Given the description of an element on the screen output the (x, y) to click on. 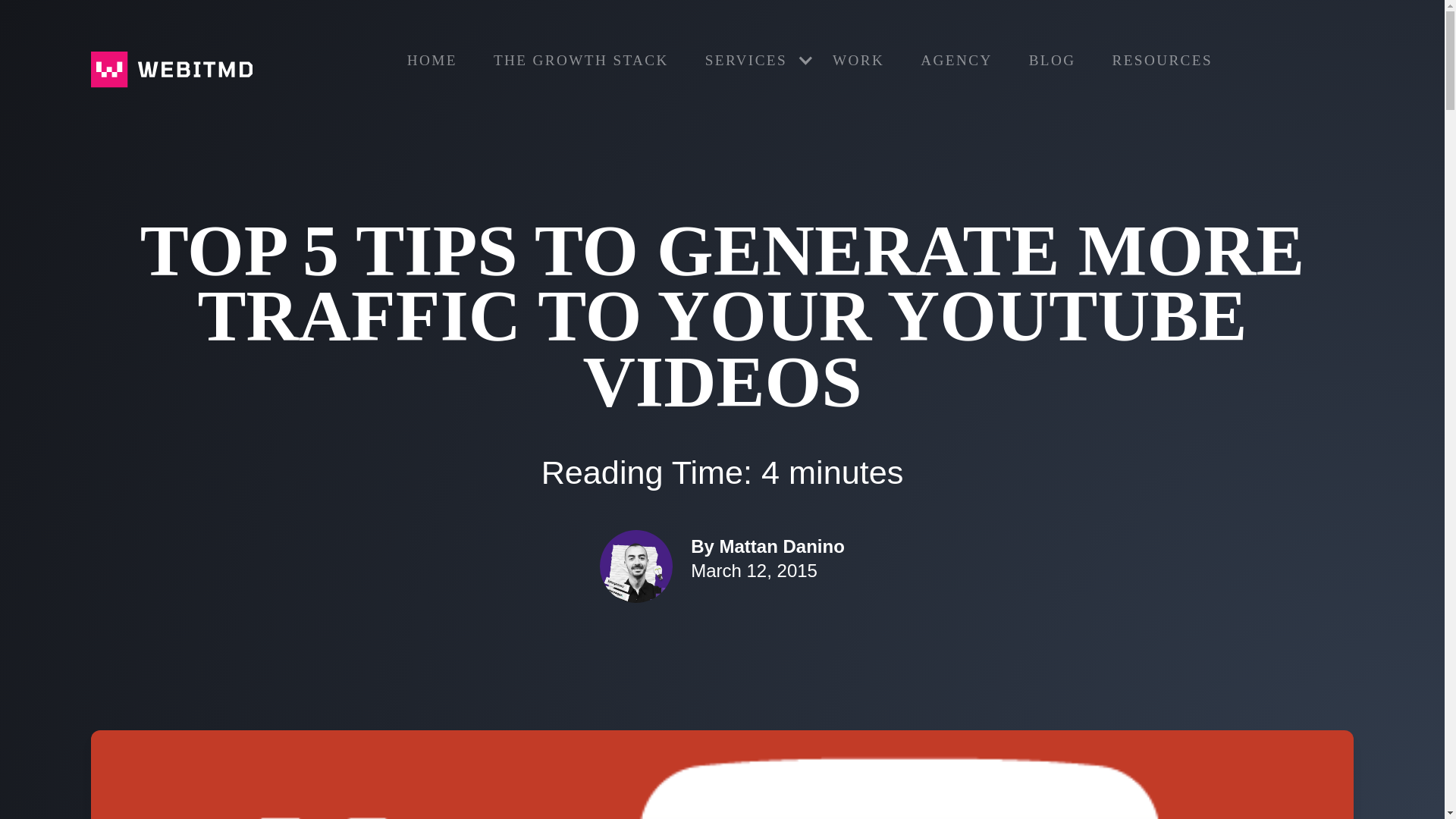
AGENCY (956, 61)
SERVICES (750, 61)
THE GROWTH STACK (581, 61)
BLOG (1052, 61)
WORK (857, 61)
HOME (432, 61)
webitmd (170, 69)
RESOURCES (1161, 61)
